Given the description of an element on the screen output the (x, y) to click on. 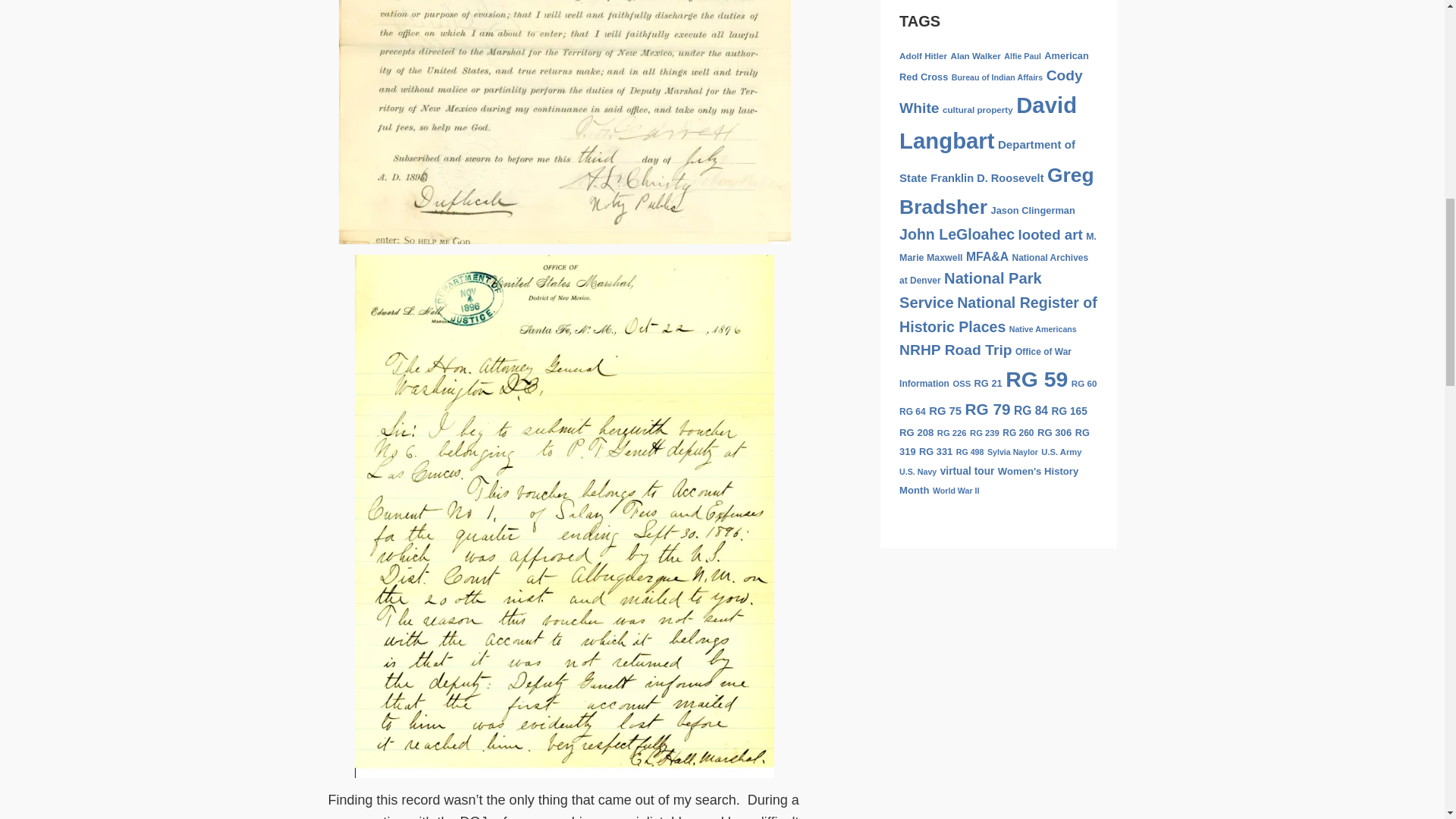
Bureau of Indian Affairs (997, 76)
Alfie Paul (1022, 55)
Adolf Hitler (923, 55)
Cody White (991, 91)
American Red Cross (994, 66)
Alan Walker (975, 55)
cultural property (977, 109)
